Given the description of an element on the screen output the (x, y) to click on. 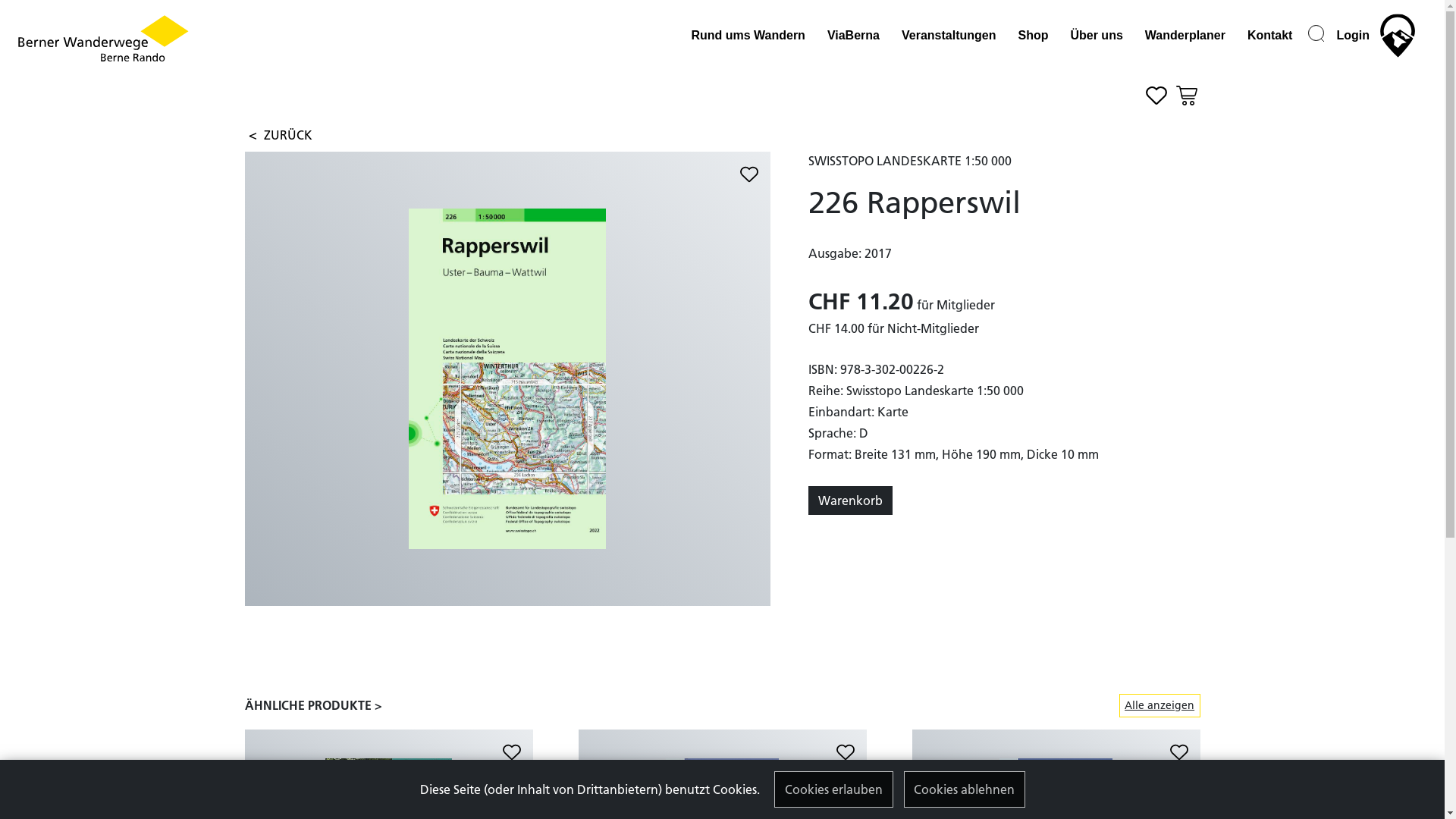
heart Element type: text (749, 173)
Cookies ablehnen Element type: text (963, 788)
Warenkorb Element type: text (850, 500)
heart Element type: text (844, 751)
Alle anzeigen Element type: text (1159, 705)
Cookies erlauben Element type: text (833, 788)
heart Element type: text (1178, 751)
heart Element type: text (511, 751)
bww-cart Element type: text (1184, 93)
heart Element type: text (1154, 93)
